Given the description of an element on the screen output the (x, y) to click on. 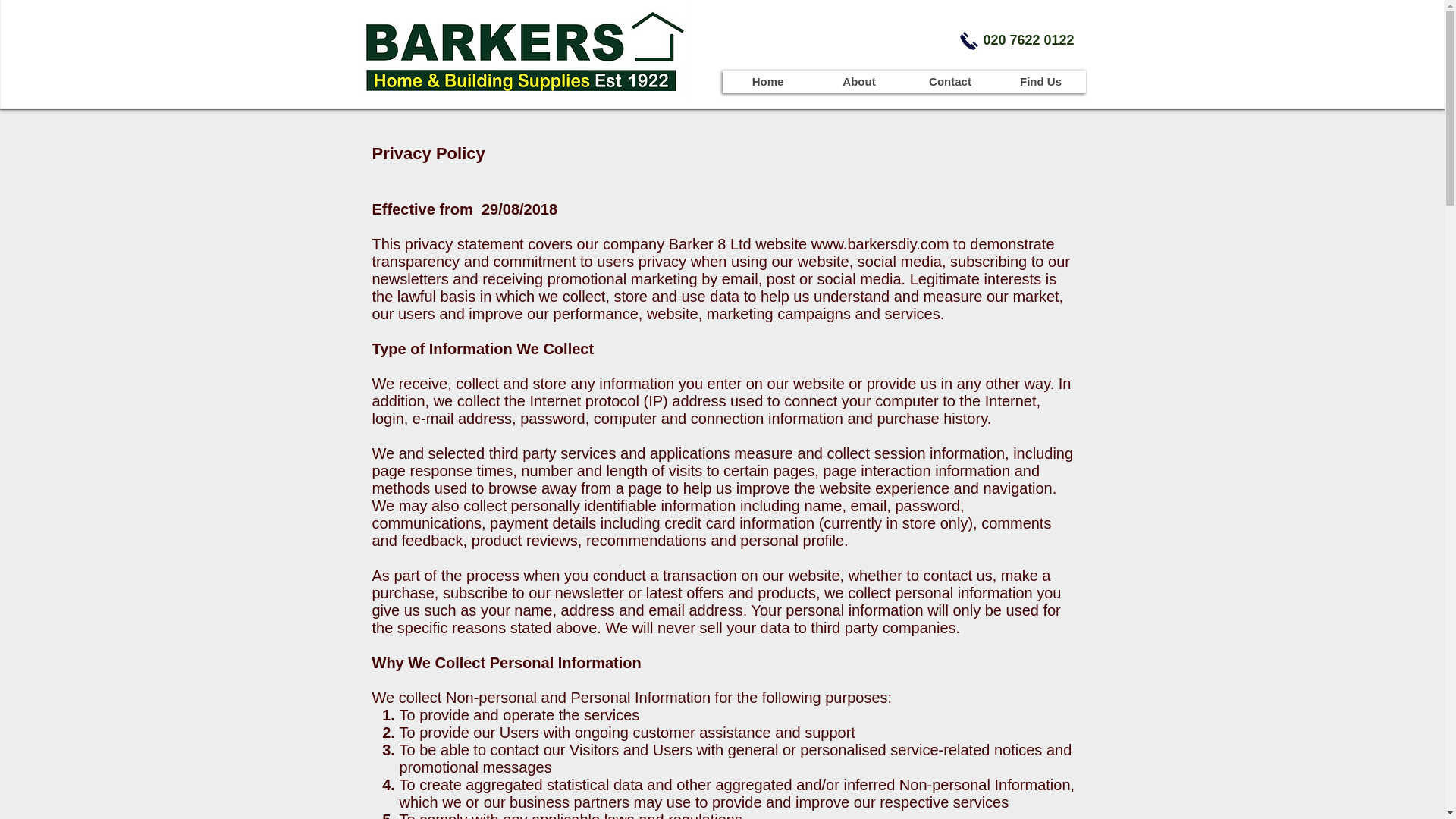
About (858, 81)
www.barkersdiy.com (879, 243)
Home (767, 81)
Find Us (1039, 81)
Contact (949, 81)
